Given the description of an element on the screen output the (x, y) to click on. 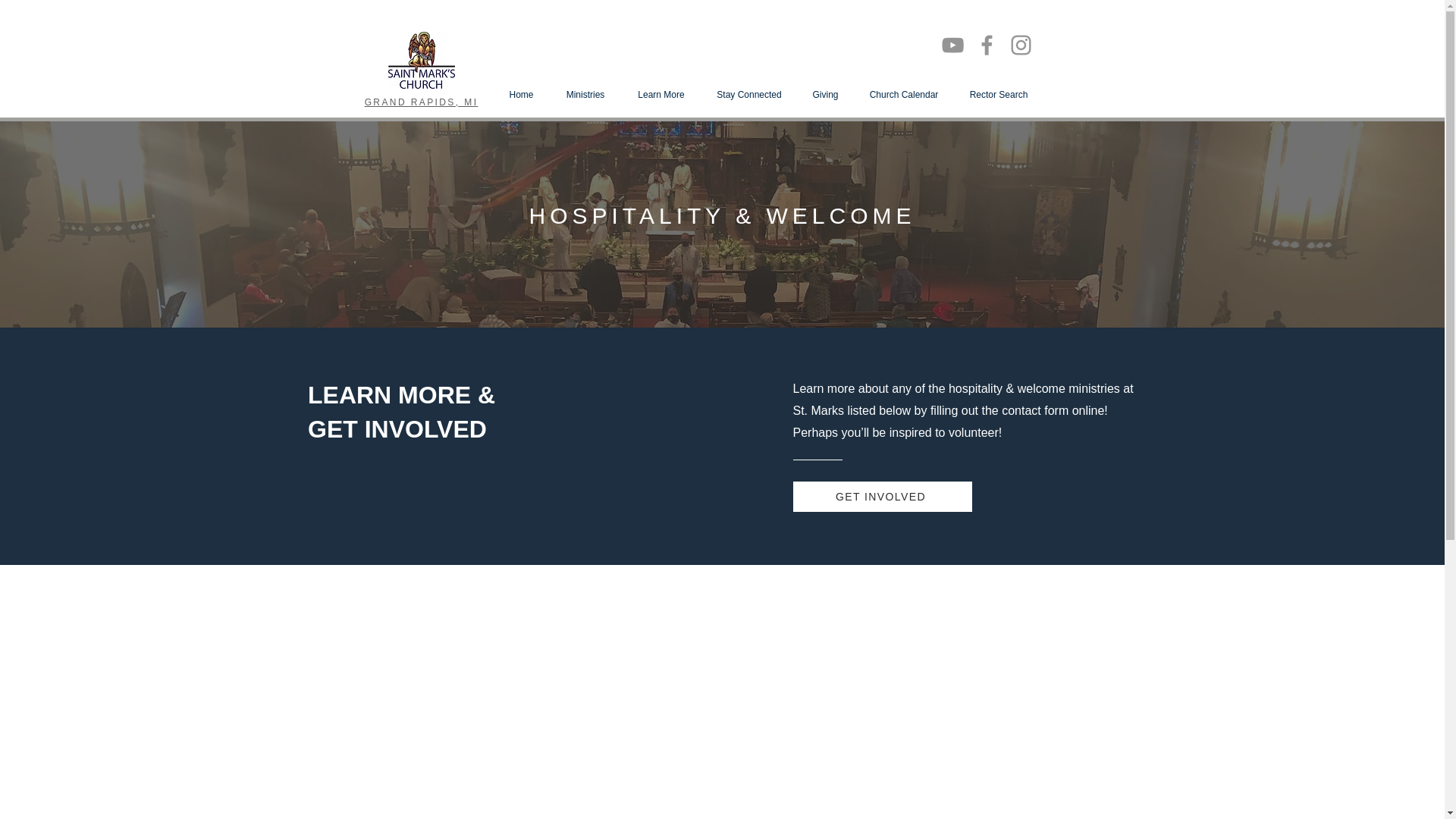
Rector Search (997, 94)
GRAND RAPIDS, MI (422, 102)
GET INVOLVED (882, 496)
Home (520, 94)
logo 2.jpg (421, 59)
Church Calendar (904, 94)
